Given the description of an element on the screen output the (x, y) to click on. 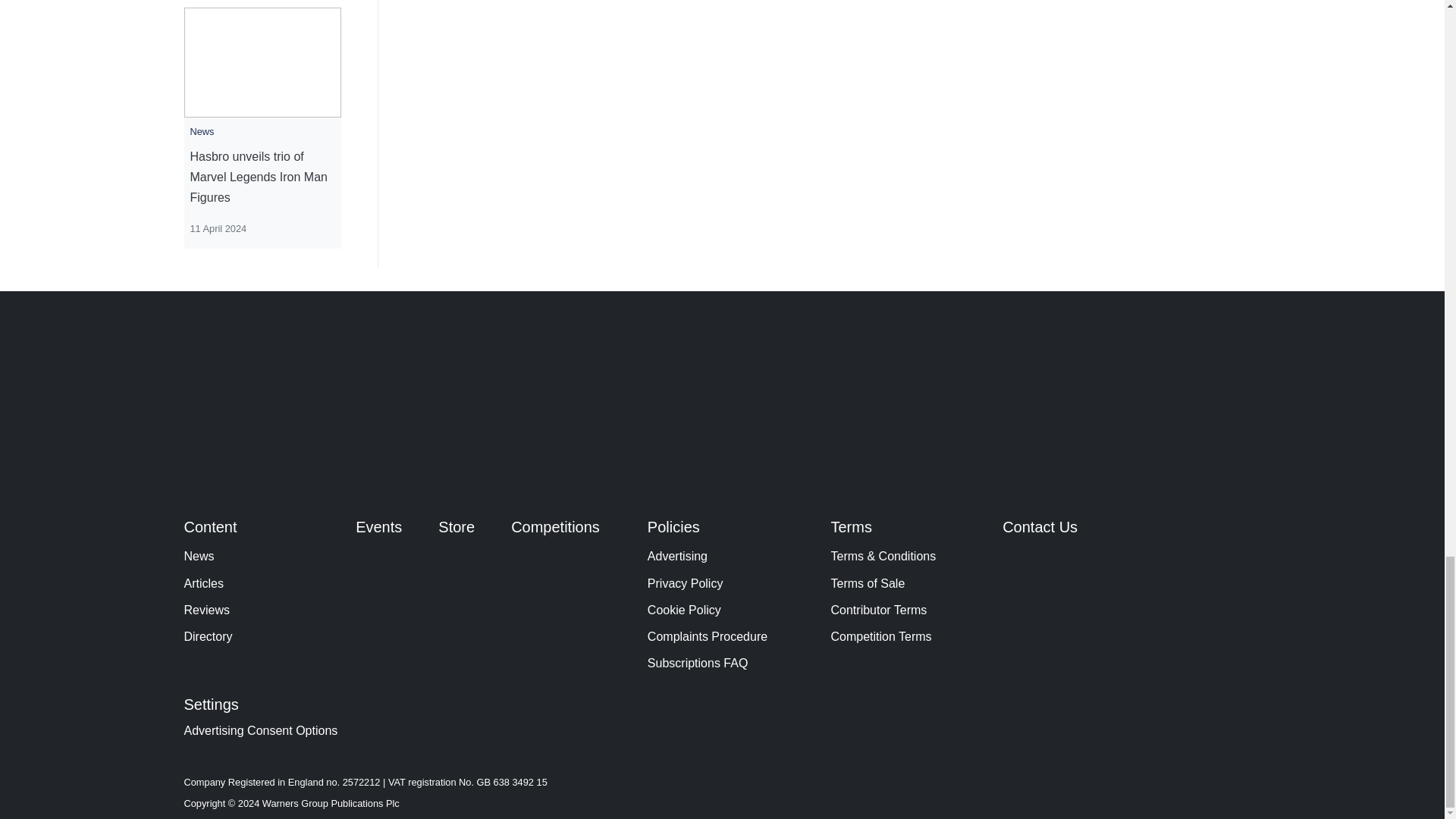
View your Advertising Consent options for this website (260, 730)
